Given the description of an element on the screen output the (x, y) to click on. 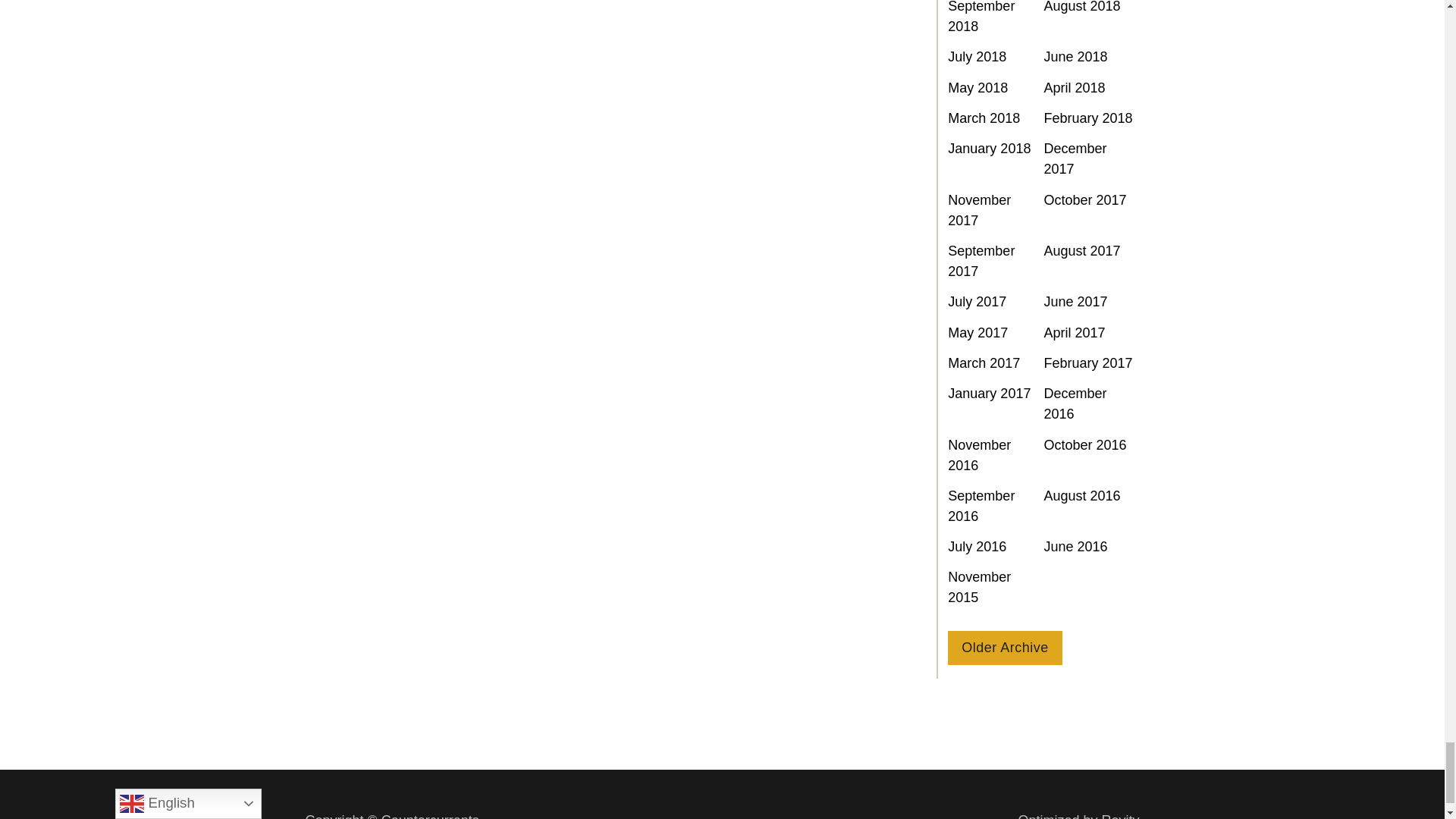
Rovity (1077, 814)
